Given the description of an element on the screen output the (x, y) to click on. 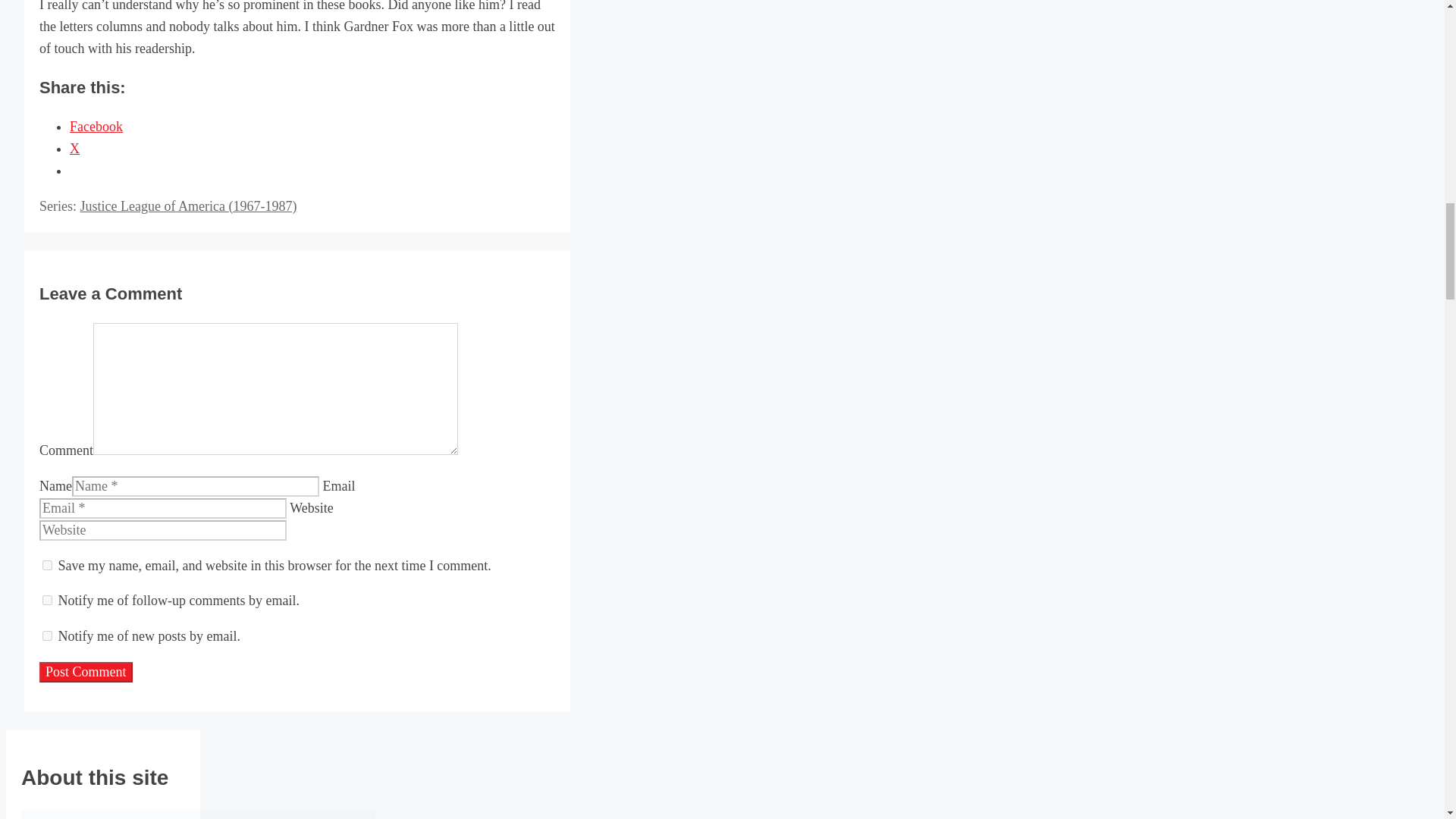
subscribe (47, 600)
Post Comment (85, 671)
Facebook (95, 126)
yes (47, 565)
subscribe (47, 635)
Click to share on Facebook (95, 126)
Post Comment (85, 671)
